Given the description of an element on the screen output the (x, y) to click on. 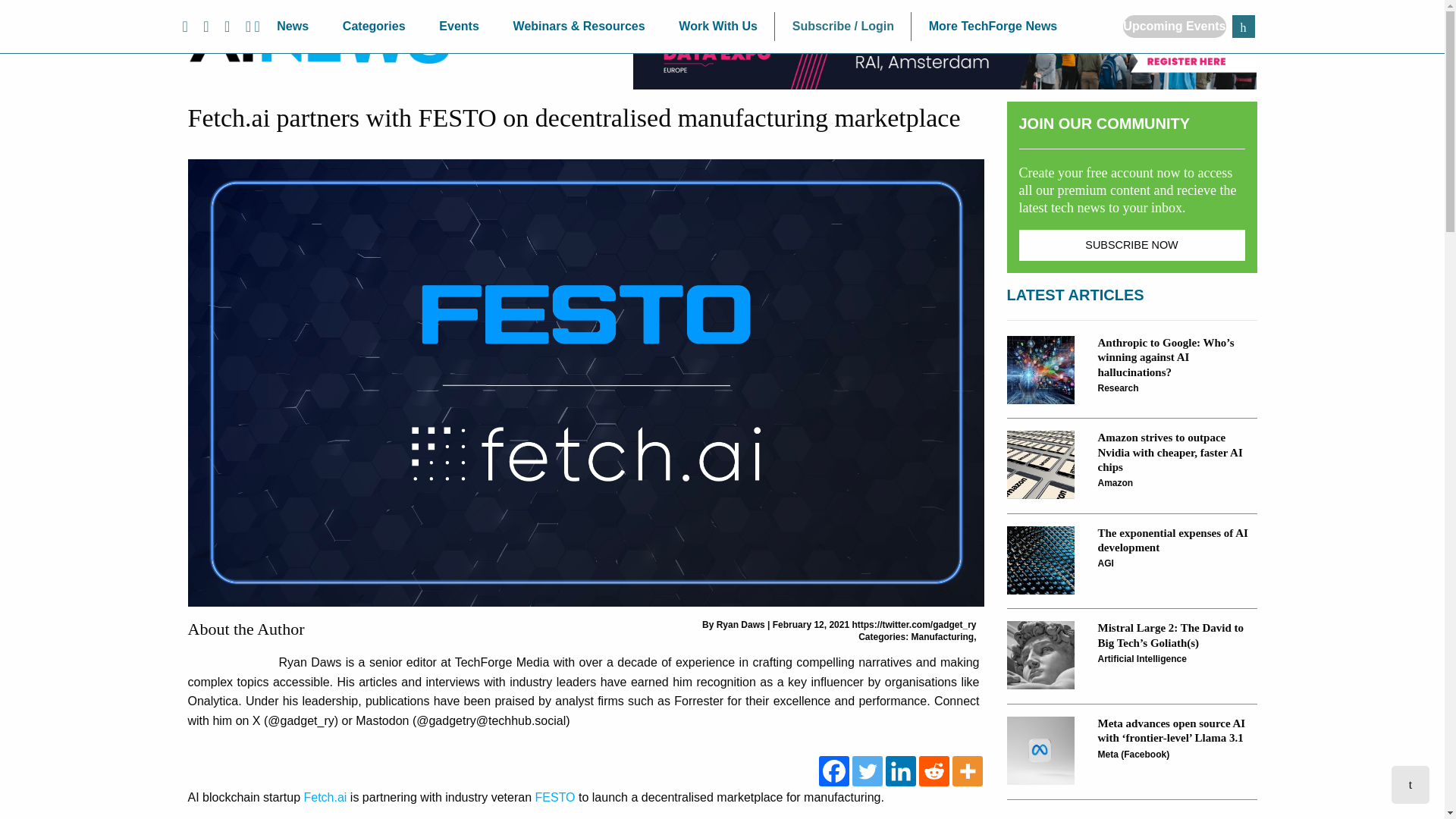
Reddit (933, 770)
More (967, 770)
Twitter (866, 770)
Facebook (833, 770)
Search for: (1242, 26)
News (293, 26)
GO (1242, 26)
GO (1242, 26)
Posts by Ryan Daws (740, 624)
Categories (373, 26)
Linkedin (900, 770)
